Given the description of an element on the screen output the (x, y) to click on. 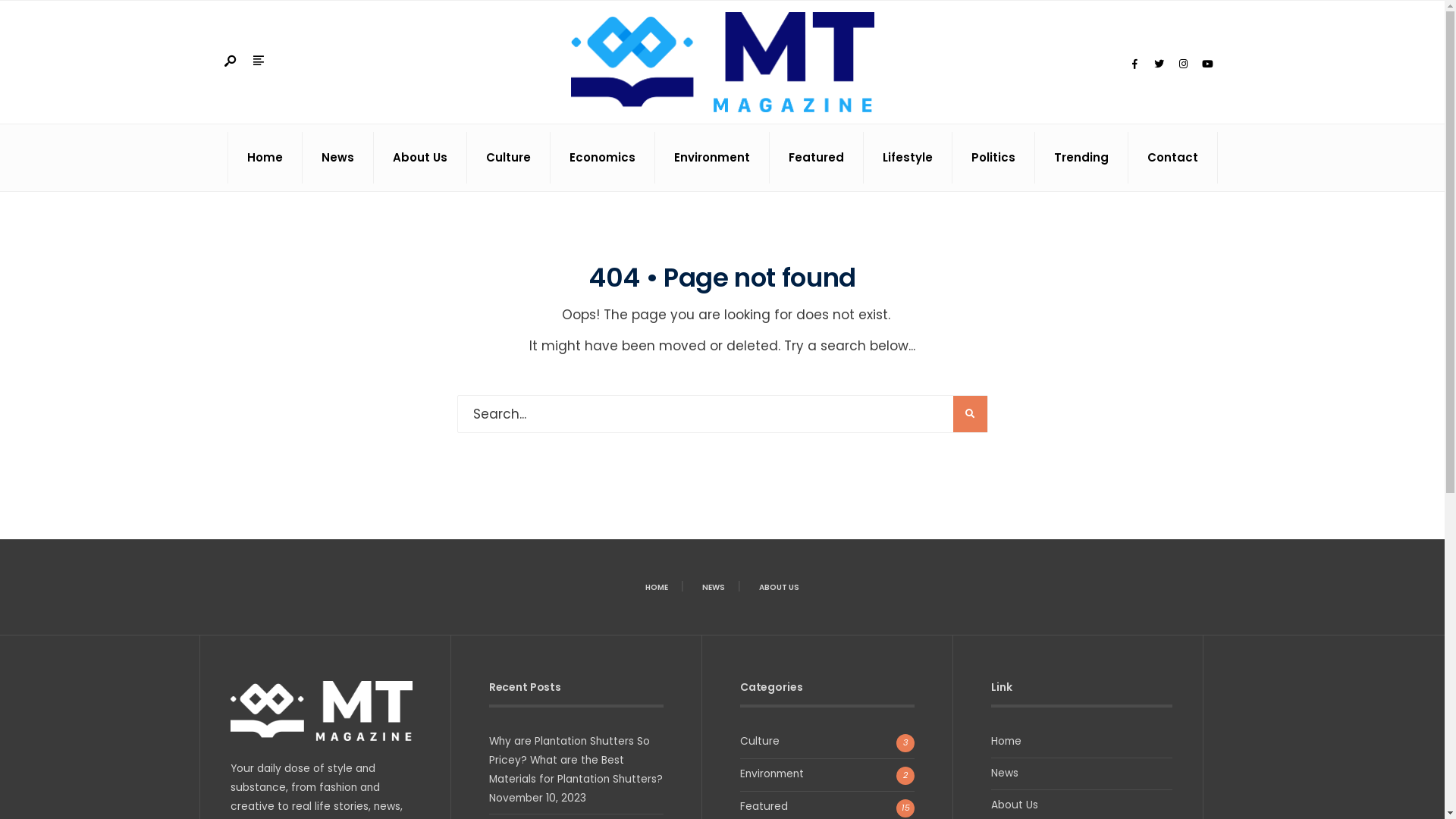
Home Element type: text (1006, 741)
Trending Element type: text (1080, 157)
ABOUT US Element type: text (779, 586)
Featured Element type: text (763, 806)
Economics Element type: text (602, 157)
Facebook Element type: hover (1134, 64)
Environment Element type: text (711, 157)
NEWS Element type: text (712, 586)
Home Element type: text (263, 157)
Twitter Element type: hover (1158, 64)
About Us Element type: text (1014, 804)
About Us Element type: text (419, 157)
Culture Element type: text (759, 741)
Politics Element type: text (993, 157)
Culture Element type: text (508, 157)
HOME Element type: text (656, 586)
Instagram Element type: hover (1182, 64)
Lifestyle Element type: text (906, 157)
Featured Element type: text (815, 157)
YouTube Element type: hover (1207, 64)
Environment Element type: text (771, 773)
News Element type: text (1004, 772)
News Element type: text (336, 157)
Contact Element type: text (1172, 157)
